Given the description of an element on the screen output the (x, y) to click on. 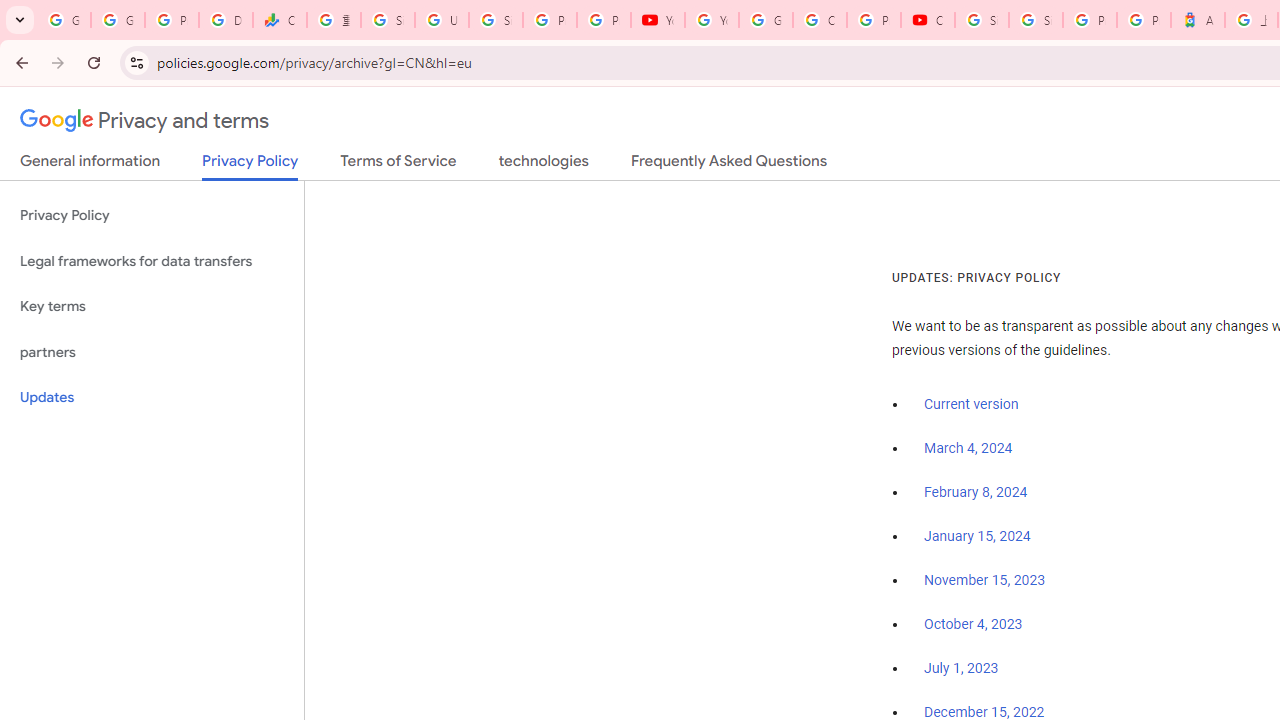
Privacy Checkup (604, 20)
July 1, 2023 (961, 669)
Legal frameworks for data transfers (152, 261)
Sign in - Google Accounts (387, 20)
Google Workspace Admin Community (63, 20)
Atour Hotel - Google hotels (1197, 20)
